Given the description of an element on the screen output the (x, y) to click on. 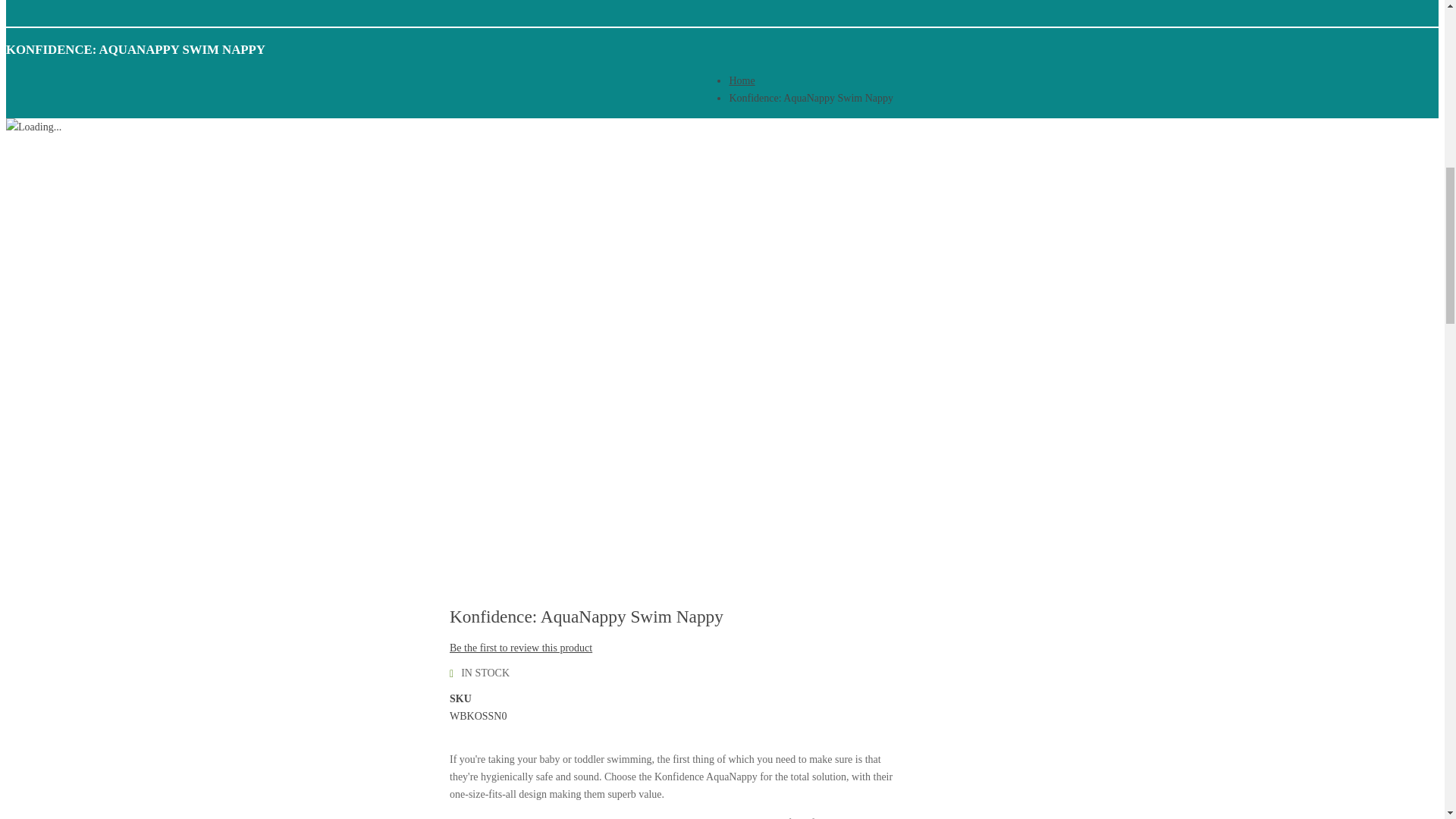
Go to Home Page (741, 80)
Home (741, 80)
Availability (671, 672)
